Given the description of an element on the screen output the (x, y) to click on. 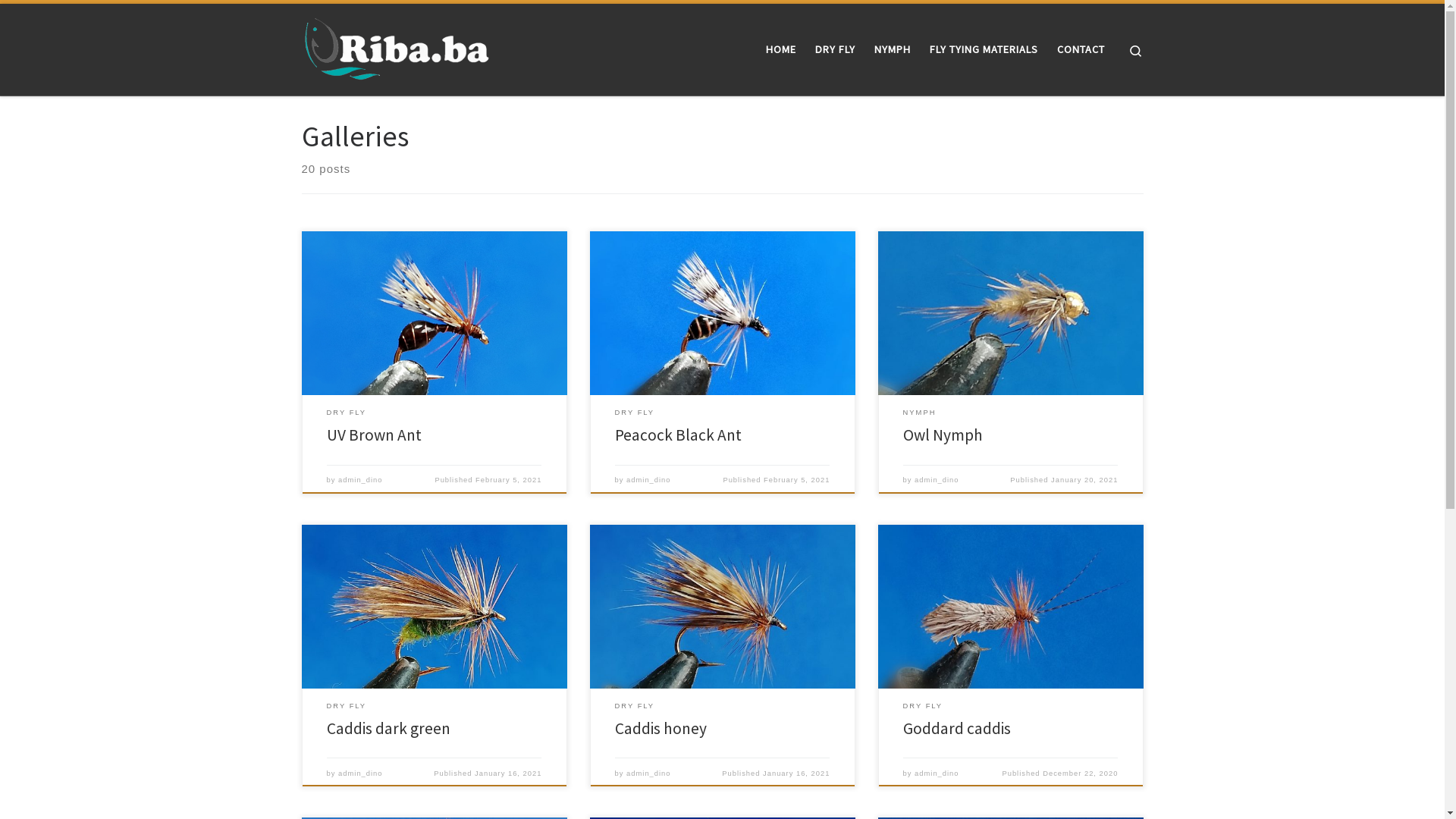
Caddis dark green Element type: text (388, 728)
admin_dino Element type: text (936, 479)
February 5, 2021 Element type: text (796, 479)
UV Brown Ant Element type: text (373, 434)
admin_dino Element type: text (936, 773)
NYMPH Element type: text (892, 49)
DRY FLY Element type: text (635, 706)
December 22, 2020 Element type: text (1079, 773)
Owl Nymph Element type: text (942, 434)
Goddard caddis Element type: text (956, 728)
admin_dino Element type: text (648, 479)
February 5, 2021 Element type: text (508, 479)
January 20, 2021 Element type: text (1084, 479)
DRY FLY Element type: text (346, 412)
FLY TYING MATERIALS Element type: text (983, 49)
Peacock Black Ant Element type: text (678, 434)
Search Element type: text (1135, 49)
admin_dino Element type: text (360, 479)
January 16, 2021 Element type: text (795, 773)
NYMPH Element type: text (919, 412)
DRY FLY Element type: text (346, 706)
admin_dino Element type: text (648, 773)
DRY FLY Element type: text (834, 49)
January 16, 2021 Element type: text (507, 773)
CONTACT Element type: text (1080, 49)
HOME Element type: text (780, 49)
Skip to content Element type: text (57, 21)
DRY FLY Element type: text (635, 412)
admin_dino Element type: text (360, 773)
Caddis honey Element type: text (660, 728)
DRY FLY Element type: text (923, 706)
